Given the description of an element on the screen output the (x, y) to click on. 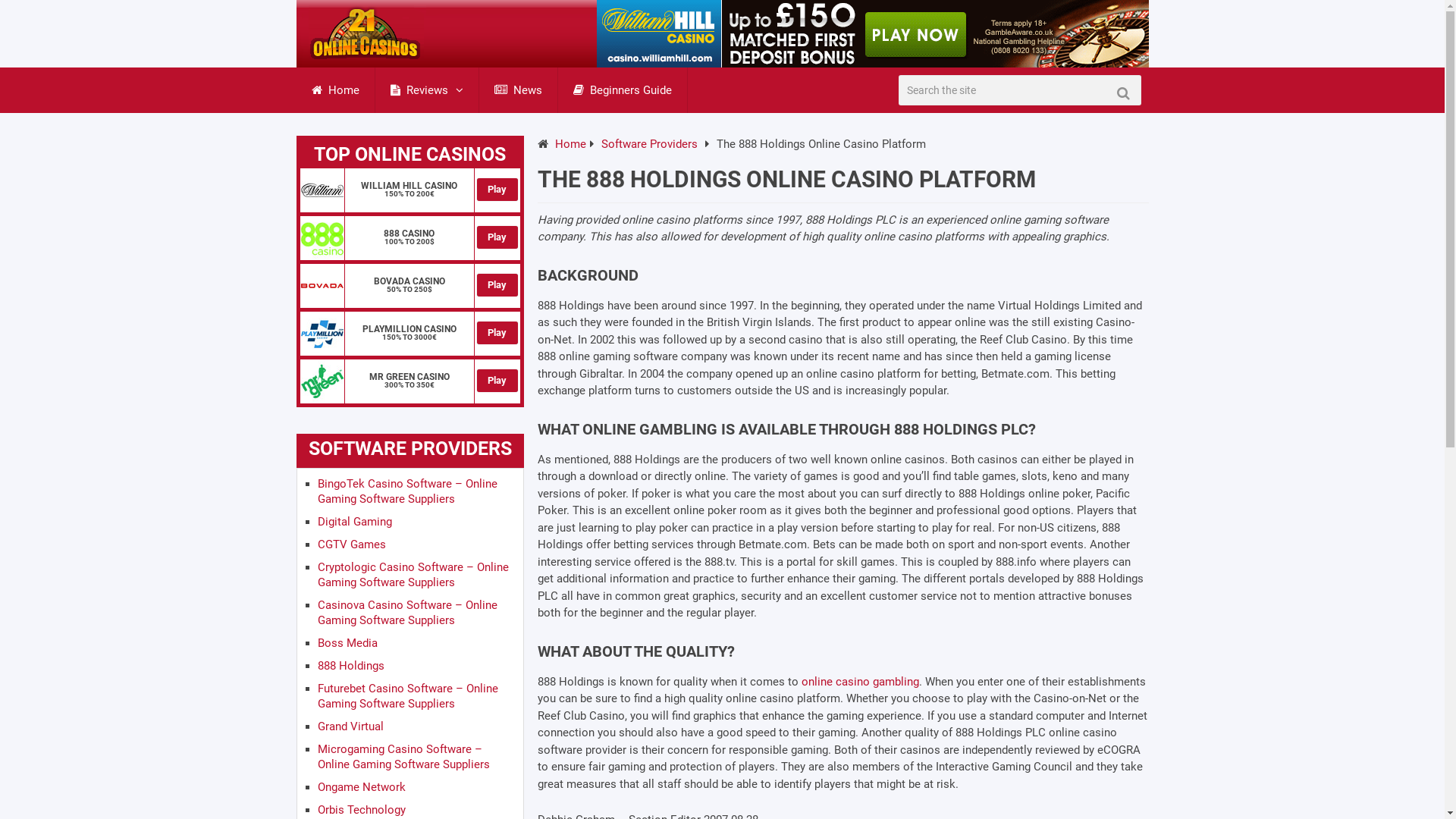
Digital Gaming Element type: text (353, 521)
888 Holdings Element type: text (349, 665)
online casino gambling Element type: text (860, 681)
Software Providers Element type: text (649, 143)
Home Element type: text (334, 89)
CGTV Games Element type: text (350, 544)
News Element type: text (518, 89)
Home Element type: text (570, 143)
Ongame Network Element type: text (360, 786)
Reviews Element type: text (425, 89)
Boss Media Element type: text (346, 642)
Orbis Technology Element type: text (360, 809)
Beginners Guide Element type: text (622, 89)
Grand Virtual Element type: text (349, 726)
